Given the description of an element on the screen output the (x, y) to click on. 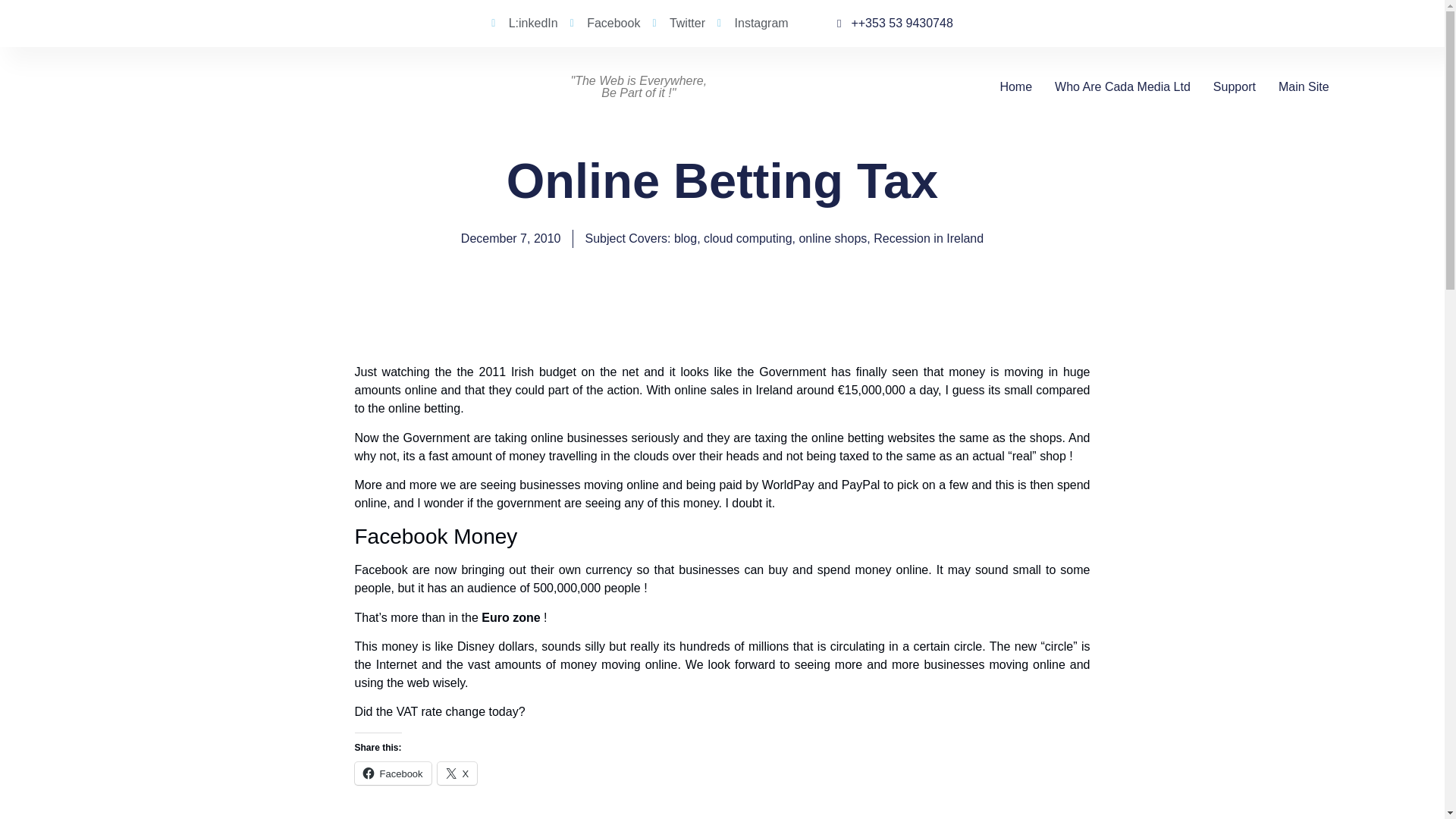
online shops (831, 237)
Recession in Ireland (928, 237)
December 7, 2010 (510, 239)
Click to share on X (457, 773)
Facebook (392, 773)
cloud computing (747, 237)
Click to share on Facebook (392, 773)
Facebook (605, 23)
X (457, 773)
Home (1015, 86)
